Given the description of an element on the screen output the (x, y) to click on. 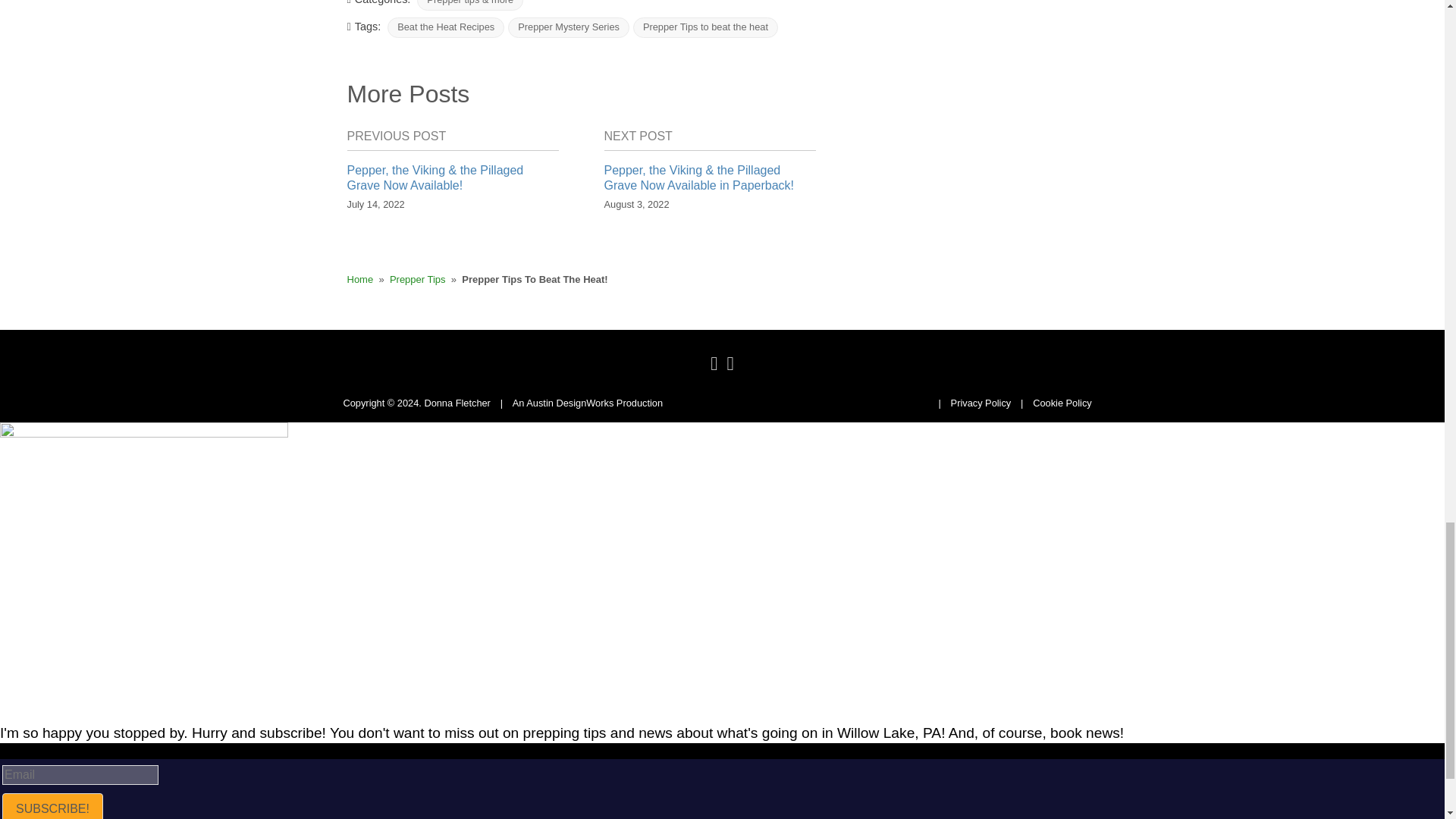
Prepper Tips to beat the heat (705, 27)
Beat the Heat Recipes (445, 27)
Prepper Mystery Series (568, 27)
